Given the description of an element on the screen output the (x, y) to click on. 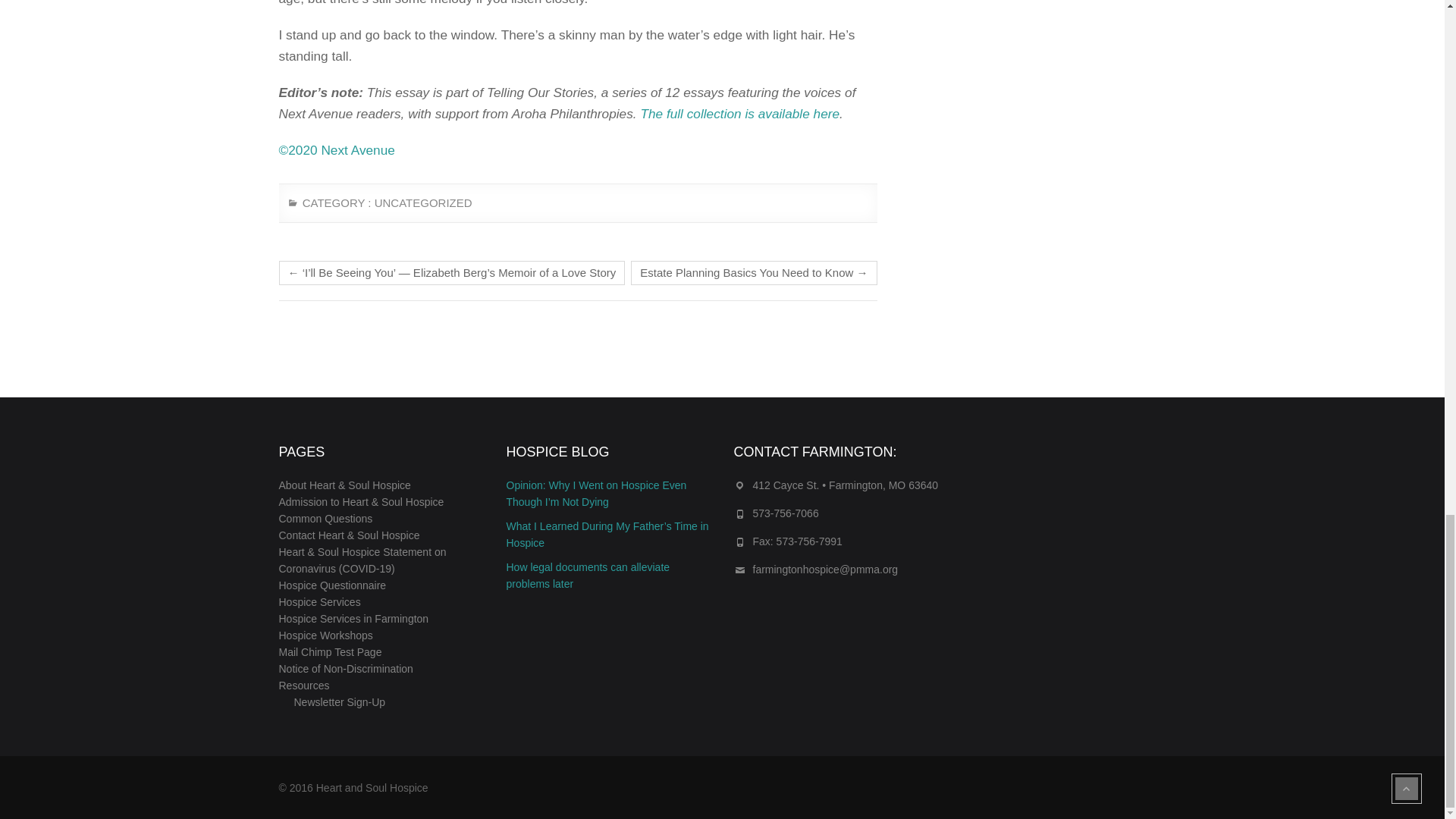
UNCATEGORIZED (422, 208)
The full collection is available here (740, 113)
573-756-7066 (785, 512)
Fax: 573-756-7991 (796, 541)
